Given the description of an element on the screen output the (x, y) to click on. 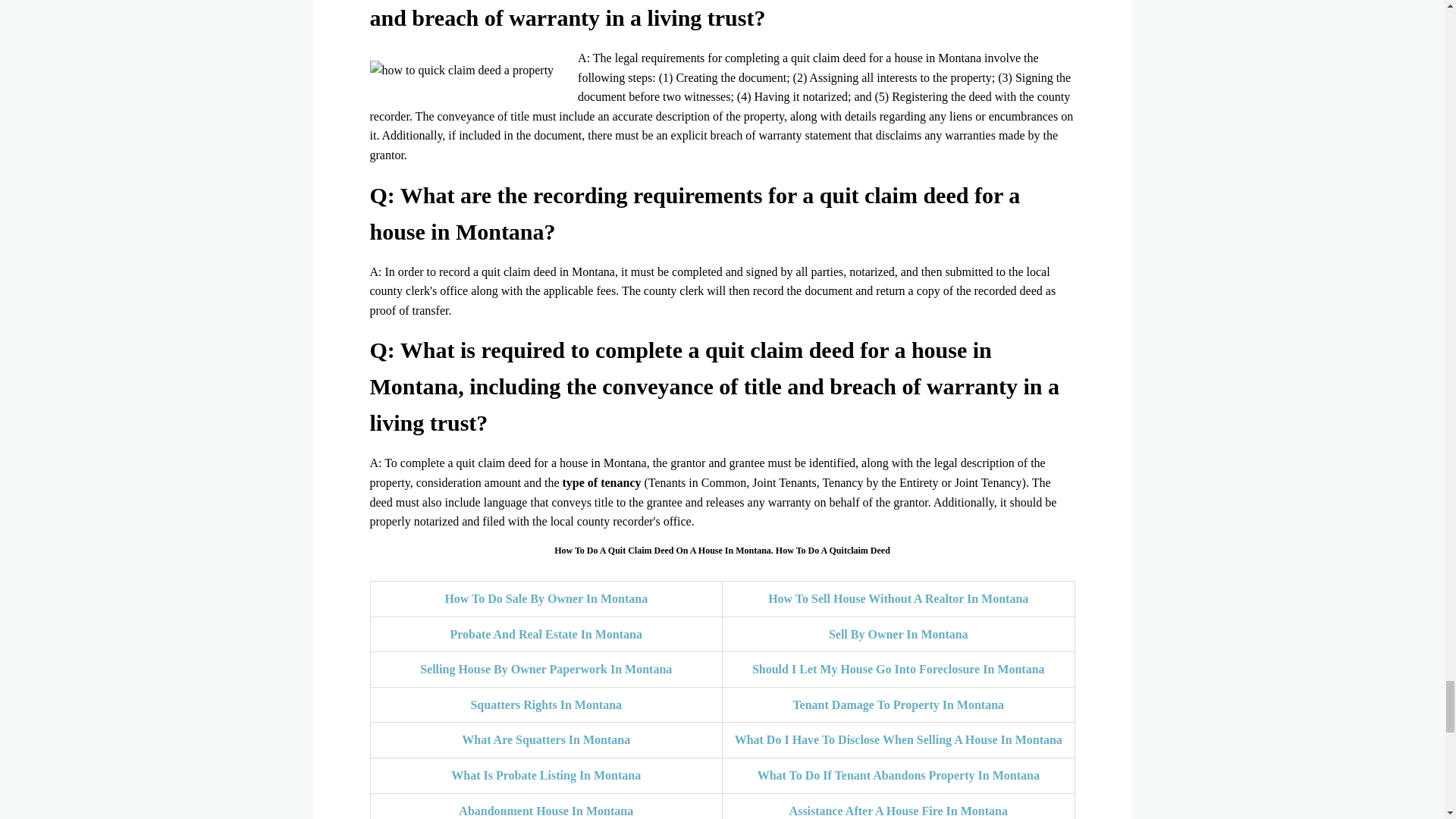
What Do I Have To Disclose When Selling A House In Montana (898, 739)
Should I Let My House Go Into Foreclosure In Montana (898, 668)
How To Sell House Without A Realtor In Montana (897, 598)
Probate And Real Estate In Montana (546, 634)
How To Do Sale By Owner In Montana (545, 598)
Tenant Damage To Property In Montana (898, 704)
Selling House By Owner Paperwork In Montana (545, 668)
Squatters Rights In Montana (545, 704)
What Are Squatters In Montana (545, 739)
Sell By Owner In Montana (898, 634)
